Given the description of an element on the screen output the (x, y) to click on. 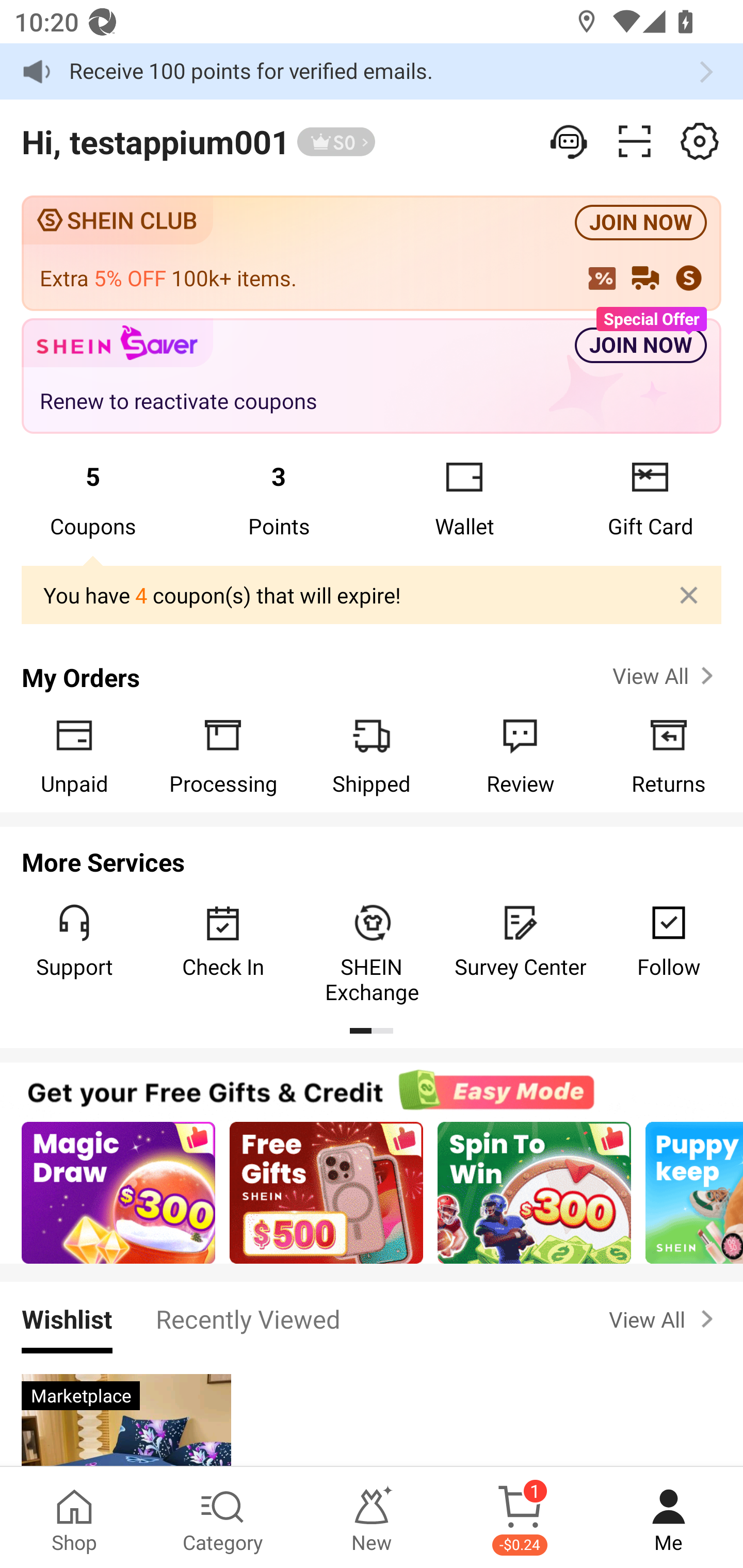
Receive 100 points for verified emails. (371, 70)
Hi, testappium001 (155, 141)
Setting (569, 141)
Scan QR Code (634, 141)
Setting (699, 141)
SHEIN VIP (336, 141)
JOIN NOW Extra 5% OFF 100k+ items. (371, 253)
JOIN NOW (640, 222)
Renew to reactivate coupons JOIN NOW Special Offer (371, 376)
JOIN NOW (640, 345)
5 Coupons 3 Points Wallet Gift Card (371, 497)
3 Points (278, 497)
Wallet (464, 497)
Gift Card (650, 497)
You have 4 coupon(s) that will expire! Close (371, 596)
Close (688, 594)
View All (664, 675)
Unpaid (74, 754)
Processing (222, 754)
Shipped (371, 754)
Review (519, 754)
Returns (668, 754)
More Services (371, 855)
Support (74, 940)
Check In (222, 940)
SHEIN Exchange (371, 952)
Survey Center (519, 940)
Follow (668, 940)
Wishlist Recently Viewed View All (371, 1318)
Recently Viewed (248, 1318)
View All (664, 1319)
Shop (74, 1517)
Category (222, 1517)
New (371, 1517)
Cart 1 -$0.24 (519, 1517)
